Given the description of an element on the screen output the (x, y) to click on. 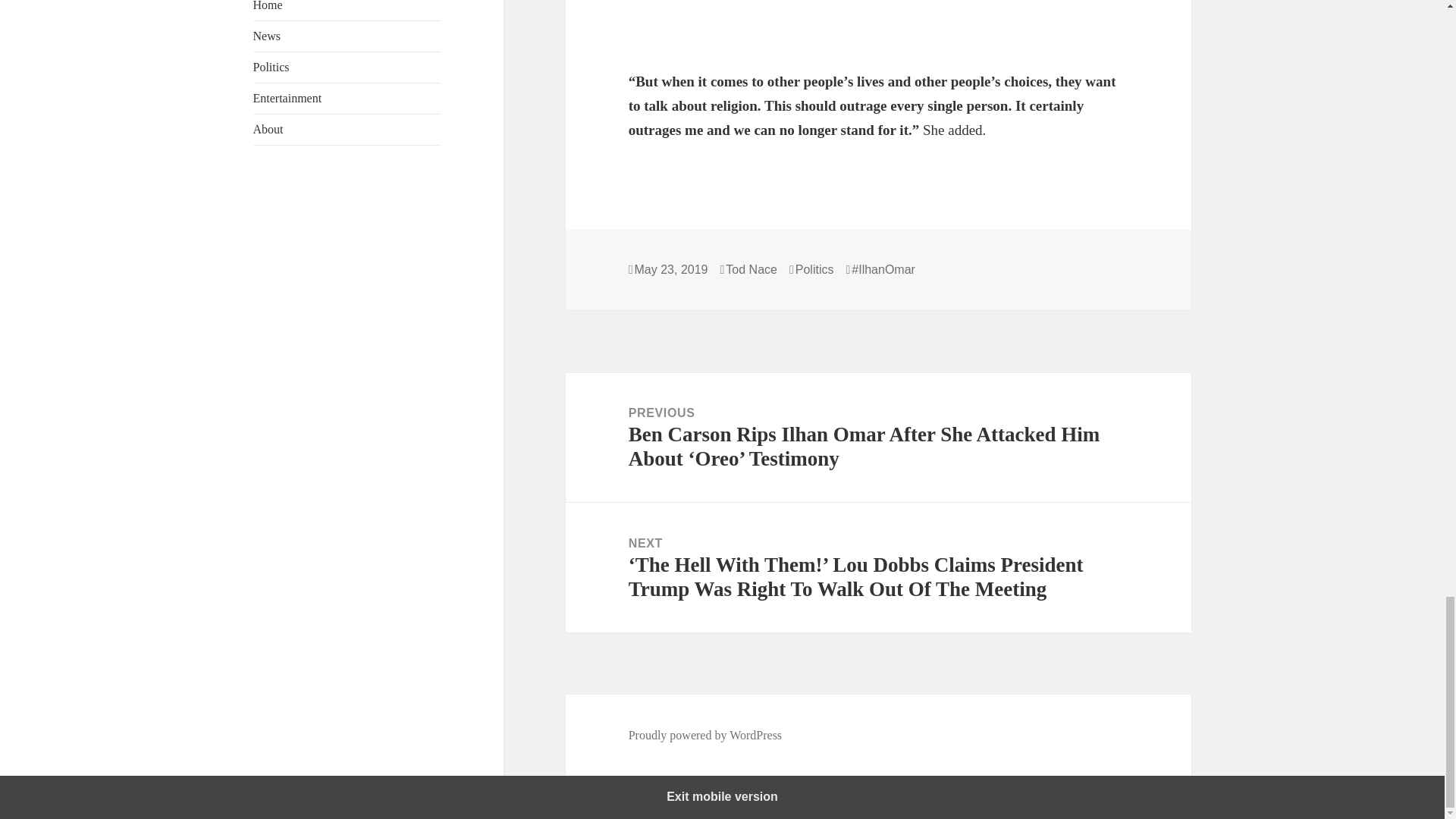
Proudly powered by WordPress (704, 735)
Tod Nace (751, 269)
3rd party ad content (878, 27)
May 23, 2019 (670, 269)
Politics (814, 269)
